Given the description of an element on the screen output the (x, y) to click on. 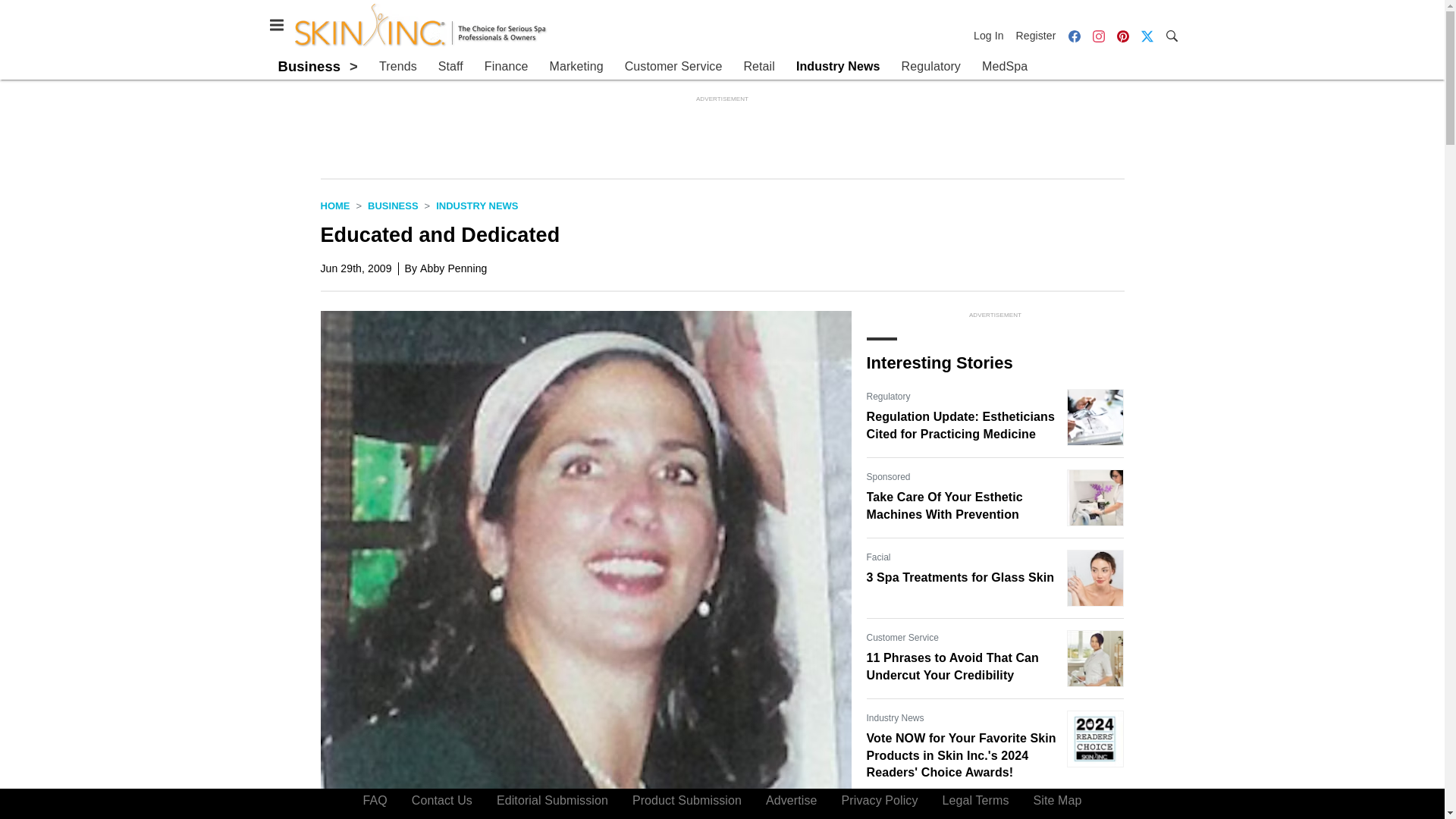
Industry News (476, 205)
Retail (758, 66)
Log In (992, 35)
MedSpa (1004, 66)
Pinterest icon (1121, 35)
Sponsored (888, 811)
Trends (397, 66)
Finance (506, 66)
Instagram icon (1097, 35)
Instagram icon (1097, 36)
